Given the description of an element on the screen output the (x, y) to click on. 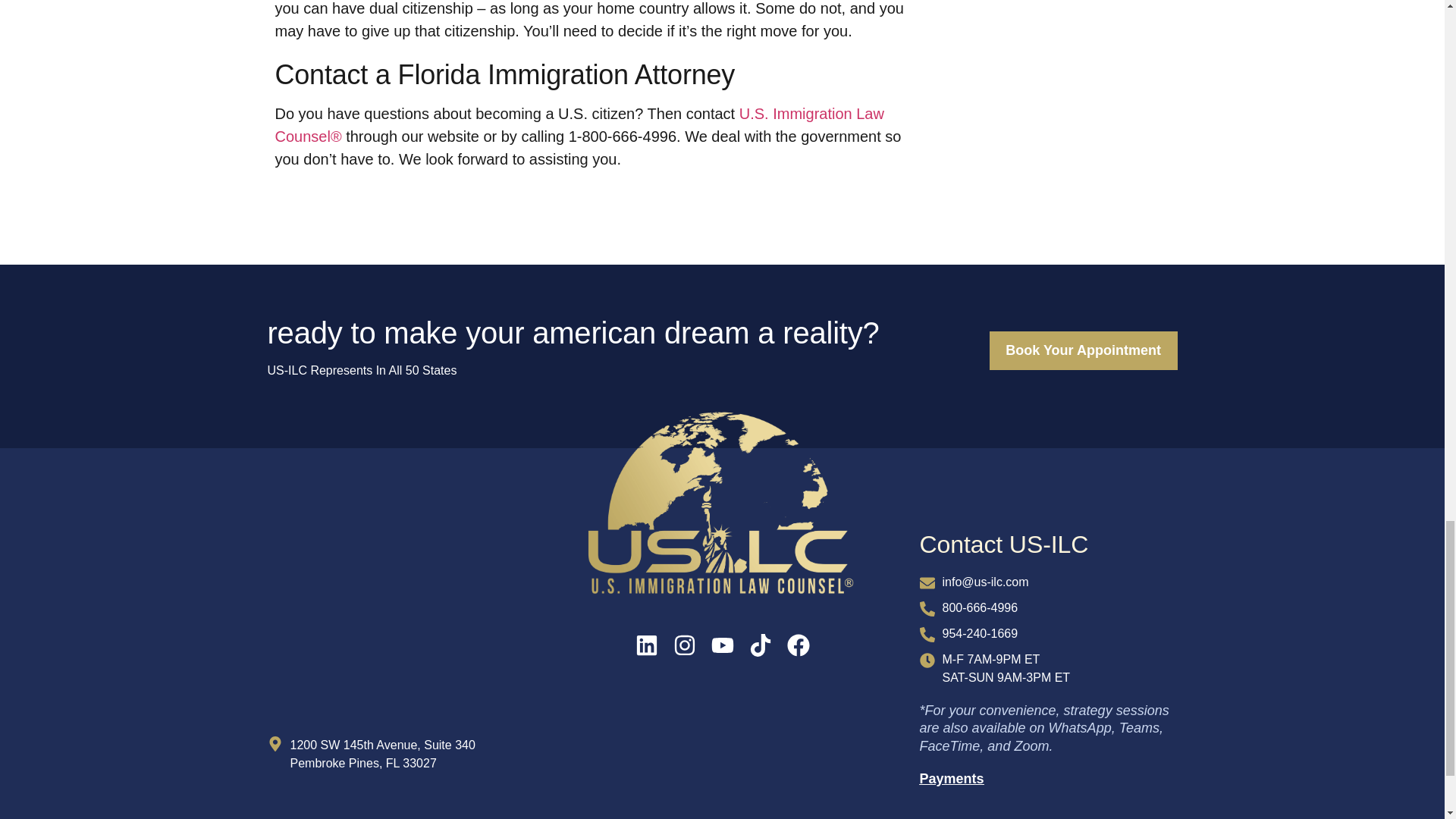
Florida Immigration Law Counsel (395, 634)
